Given the description of an element on the screen output the (x, y) to click on. 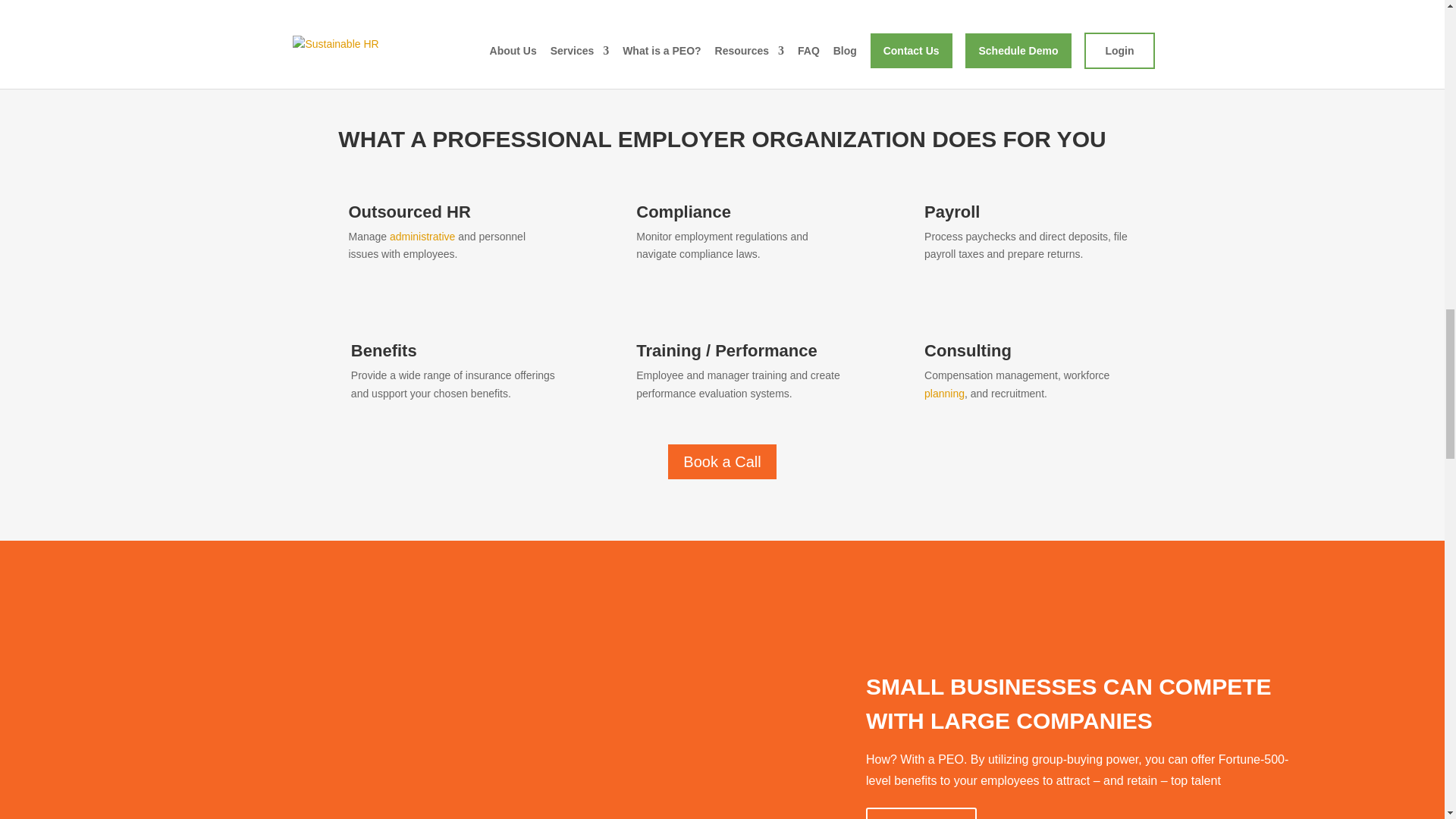
Book a Call (722, 461)
planning (943, 393)
administrative (422, 236)
Book a Call (921, 813)
